Given the description of an element on the screen output the (x, y) to click on. 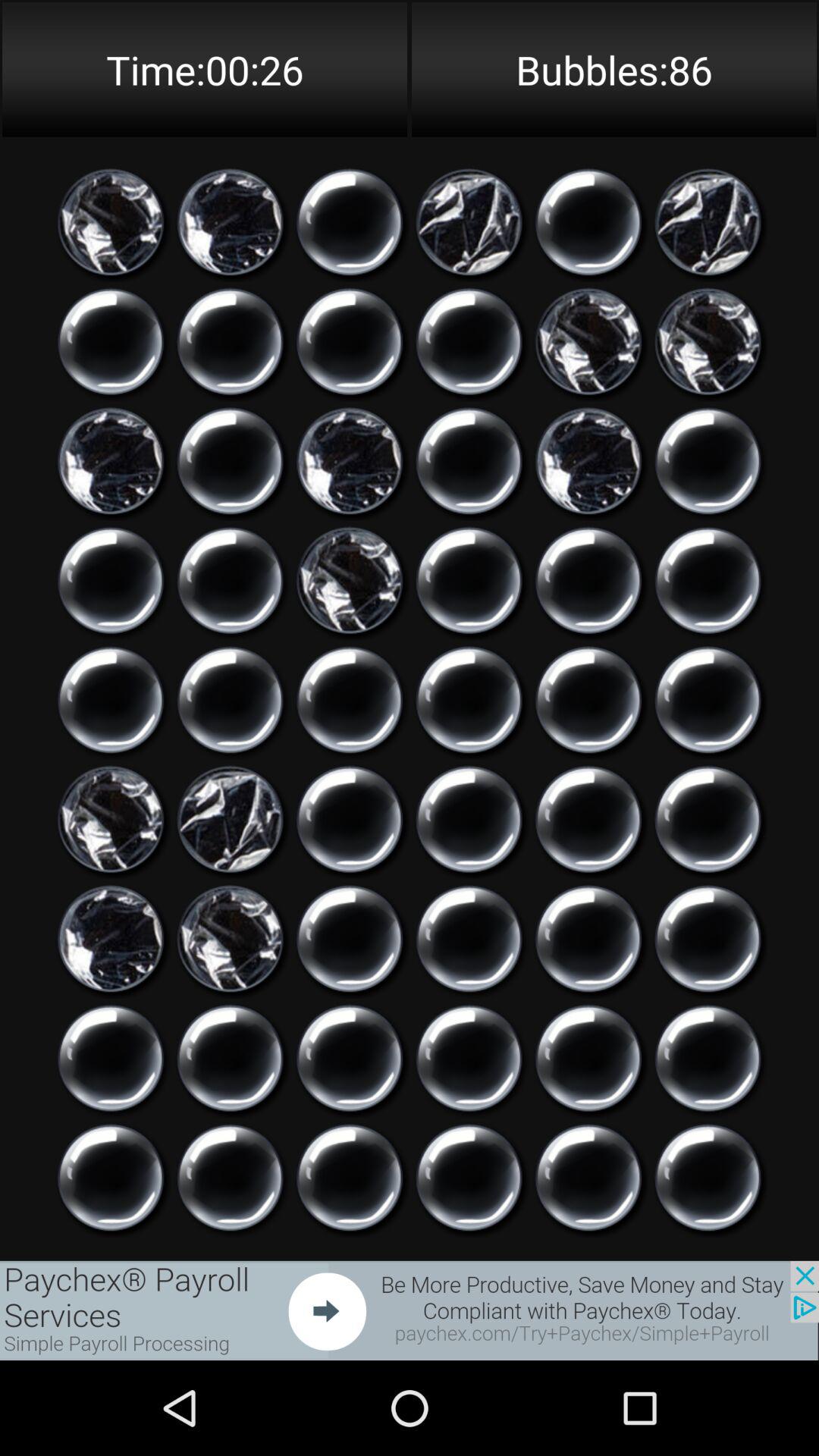
click on icon (468, 222)
